Given the description of an element on the screen output the (x, y) to click on. 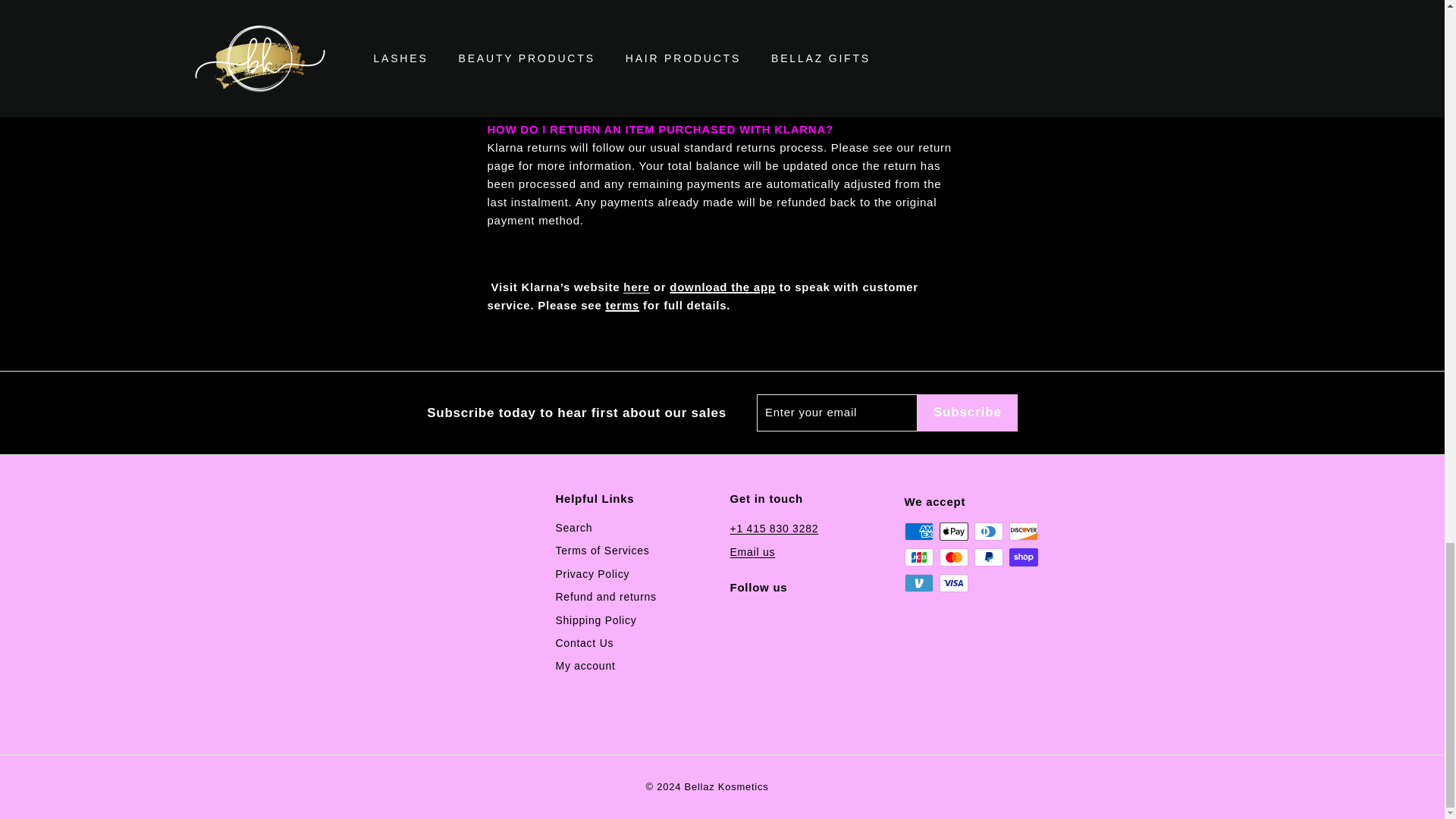
Refund and returns (605, 596)
Venmo (918, 583)
Discover (1022, 531)
Visa (953, 583)
here (636, 286)
Subscribe (967, 411)
Klarna Customer Service (636, 286)
download the app (722, 286)
Mastercard (953, 556)
Apple Pay (953, 531)
